Given the description of an element on the screen output the (x, y) to click on. 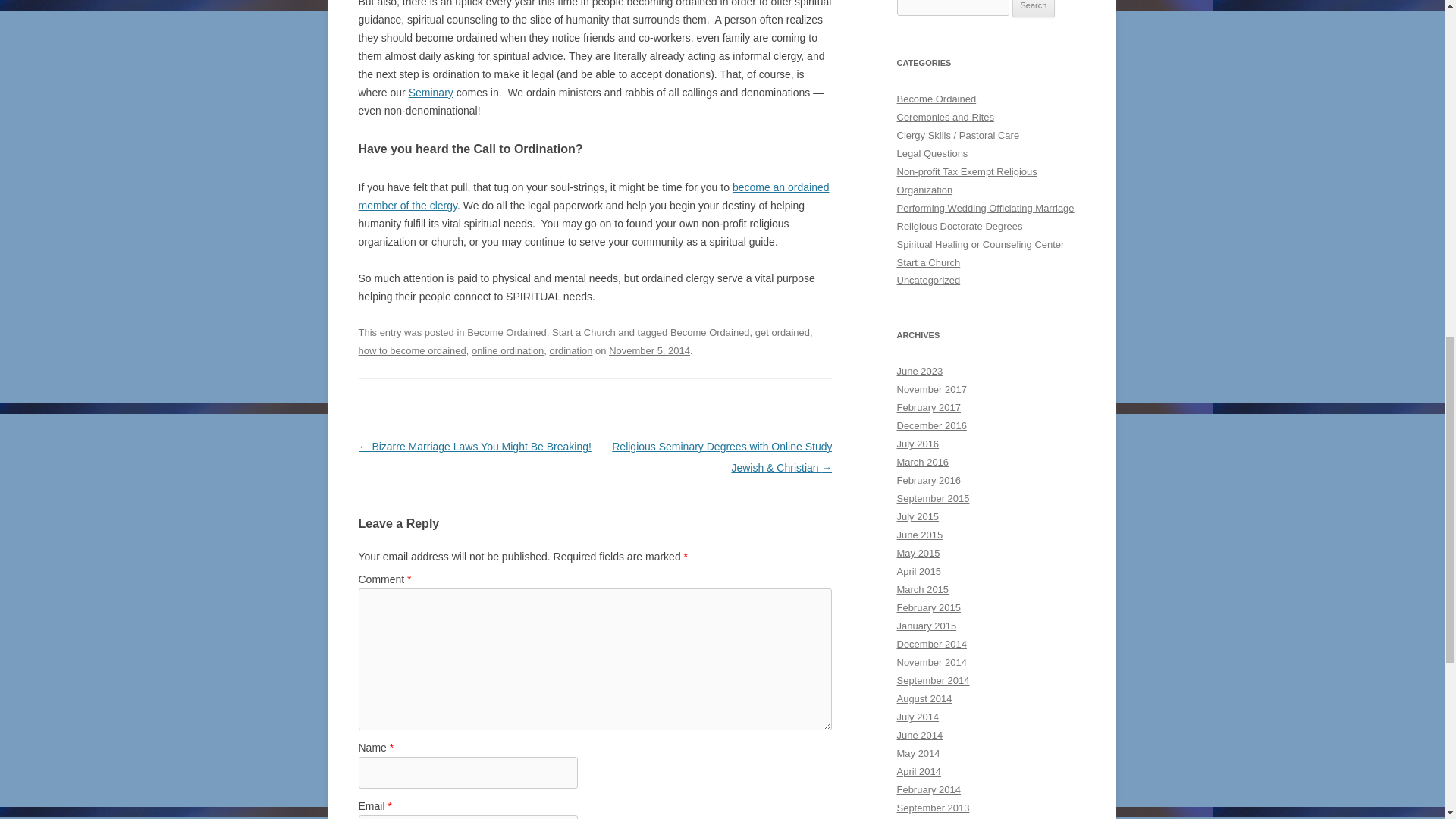
Search (1033, 8)
Become Ordained (507, 332)
ordination (570, 350)
Start a Church (583, 332)
Ceremonies and Rites (944, 116)
how to become ordained (411, 350)
Become Ordained (935, 98)
November 5, 2014 (649, 350)
Search (1033, 8)
1:53 pm (649, 350)
Seminary (430, 92)
Become Ordained (709, 332)
become an ordained member of the clergy (593, 195)
online ordination (507, 350)
get ordained (782, 332)
